Given the description of an element on the screen output the (x, y) to click on. 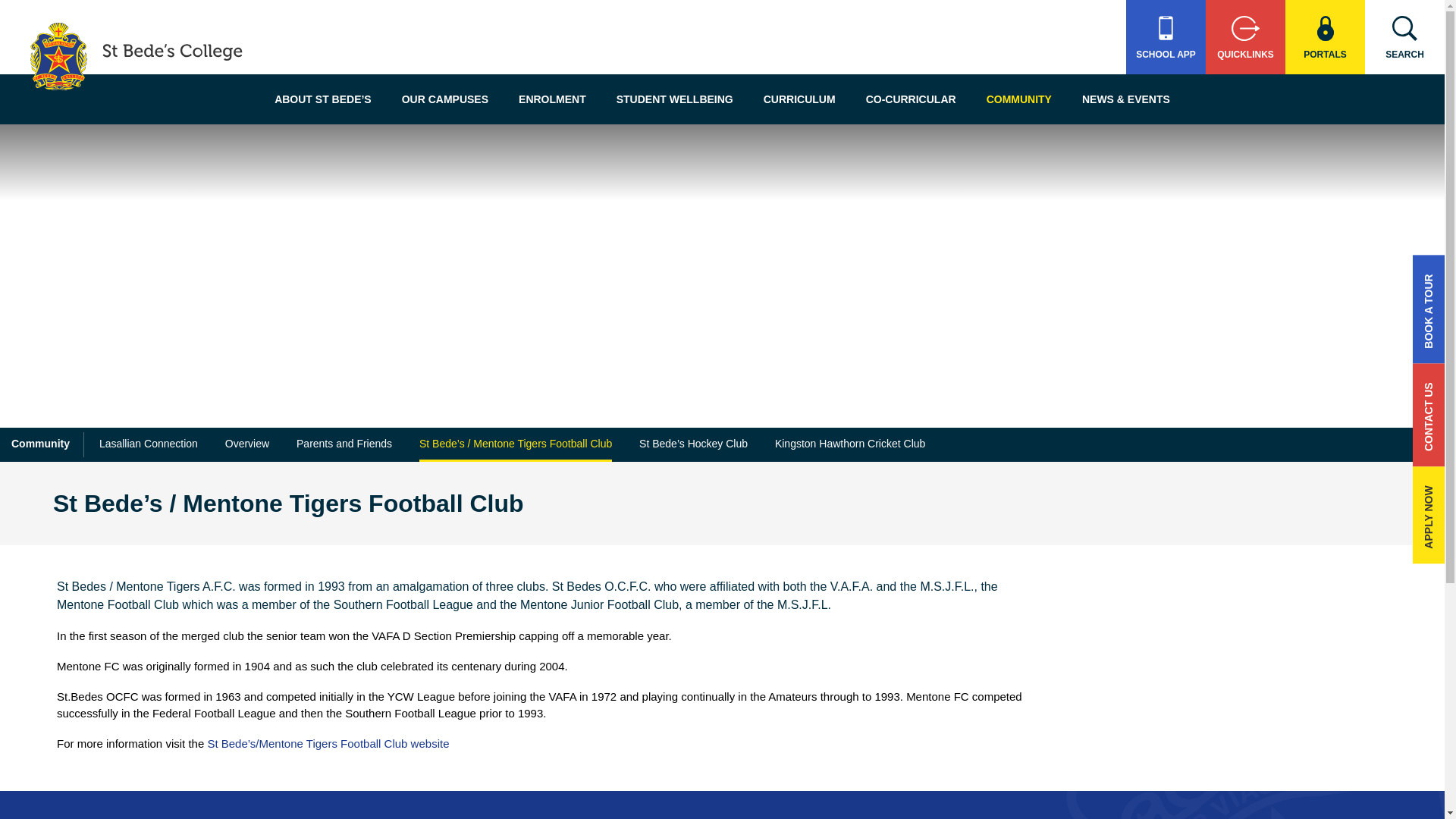
ENROLMENT (552, 99)
CURRICULUM (799, 99)
Skip to content (768, 149)
SCHOOL APP (1165, 37)
PORTALS (1325, 37)
OUR CAMPUSES (445, 99)
STUDENT WELLBEING (674, 99)
QUICKLINKS (1245, 37)
